Given the description of an element on the screen output the (x, y) to click on. 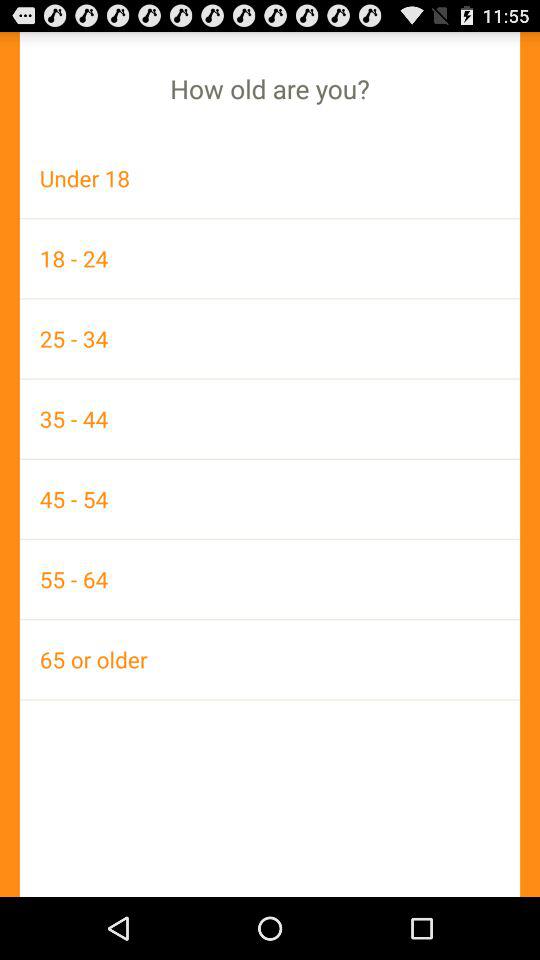
open the 45 - 54 icon (269, 498)
